Given the description of an element on the screen output the (x, y) to click on. 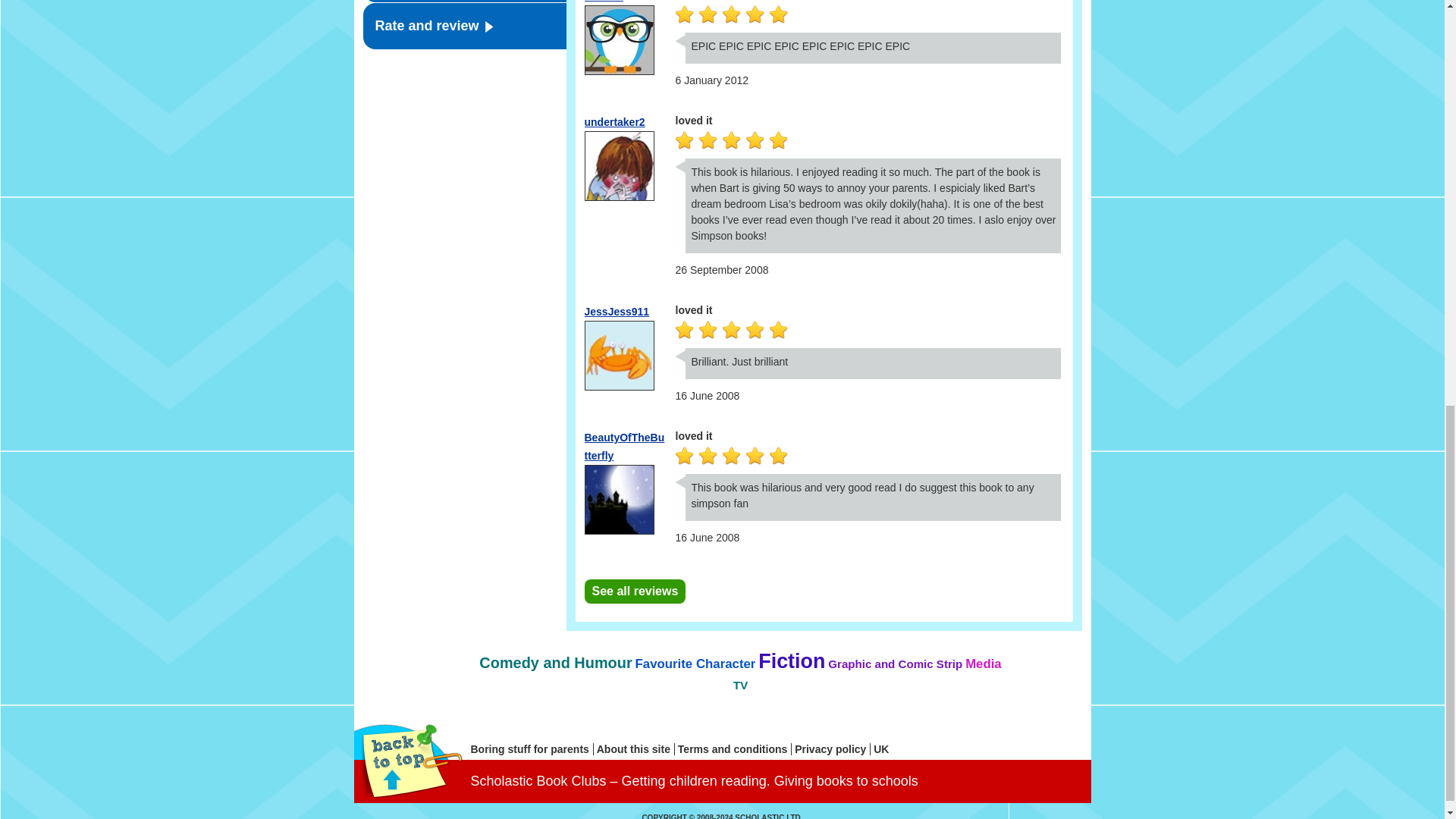
BeautyOfTheButterfly (623, 446)
Authors (464, 1)
Rate and review (464, 26)
JessJess911 (616, 311)
undertaker2 (614, 121)
lbs2000 (603, 1)
See all reviews (634, 591)
